Given the description of an element on the screen output the (x, y) to click on. 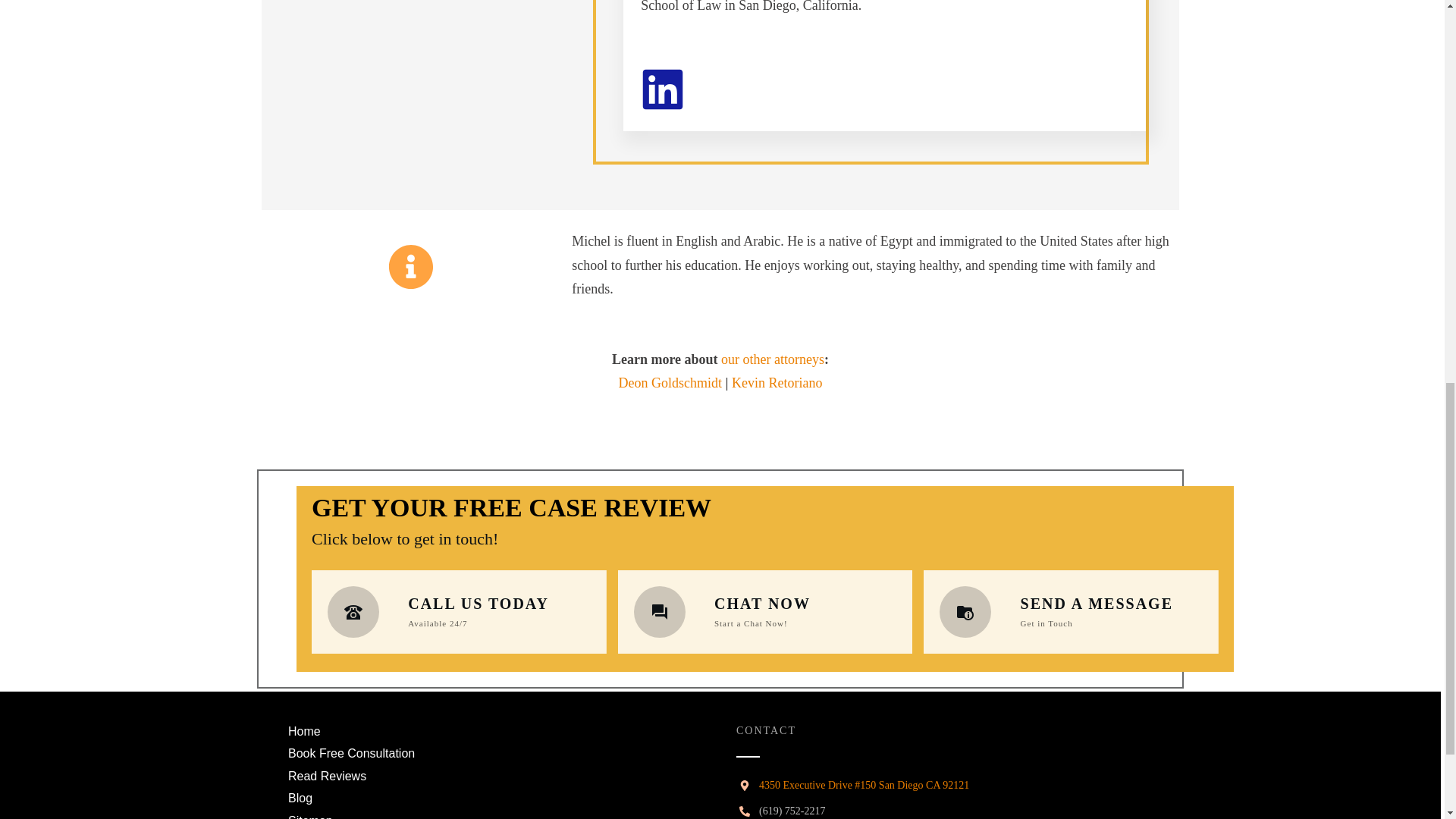
Read Reviews (327, 776)
Deon Goldschmidt (670, 382)
Home (304, 731)
Blog (300, 798)
Kevin Retoriano (777, 382)
Book Free Consultation (351, 753)
our other attorneys (772, 359)
